Given the description of an element on the screen output the (x, y) to click on. 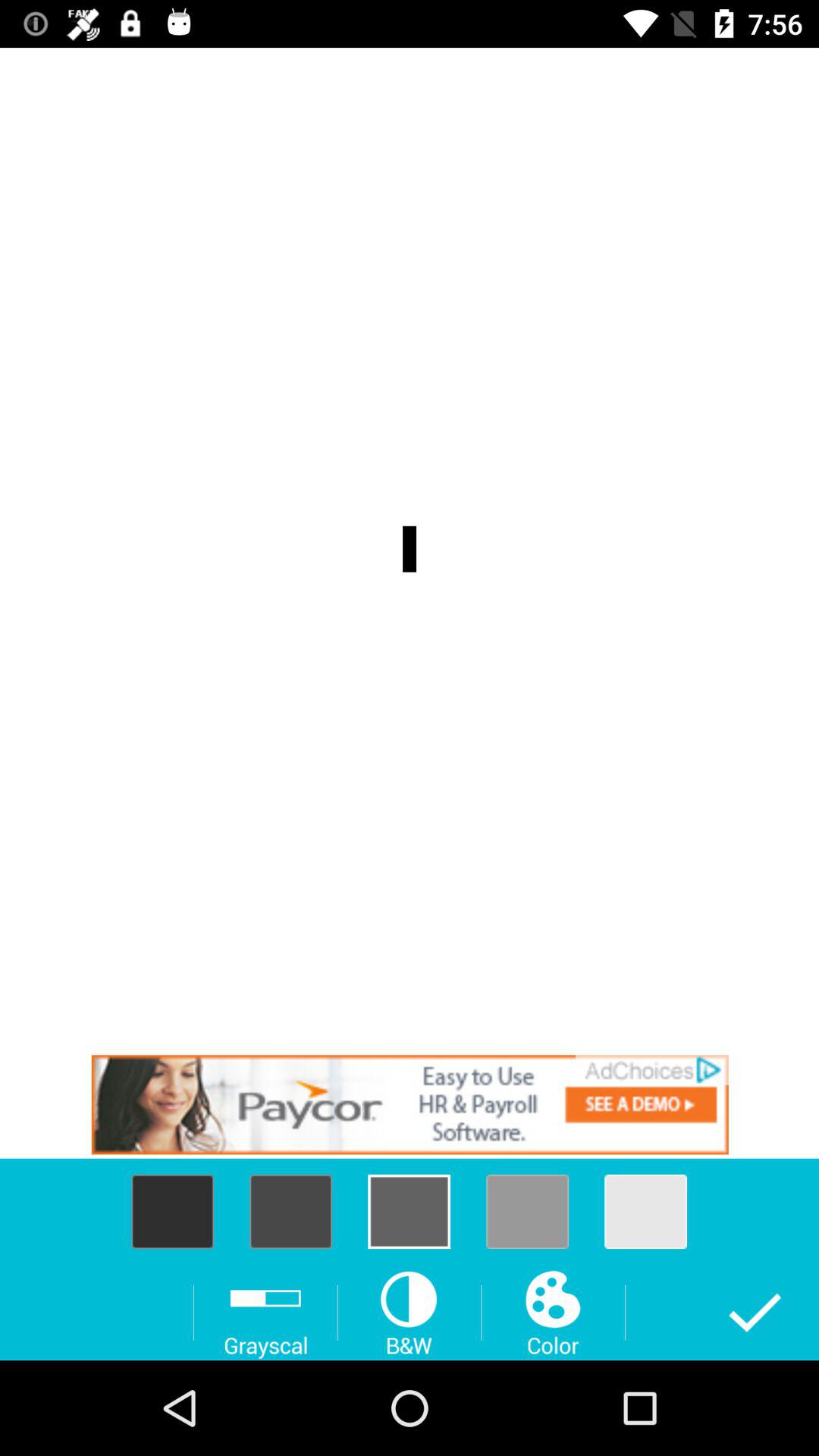
advertisement (409, 1104)
